Given the description of an element on the screen output the (x, y) to click on. 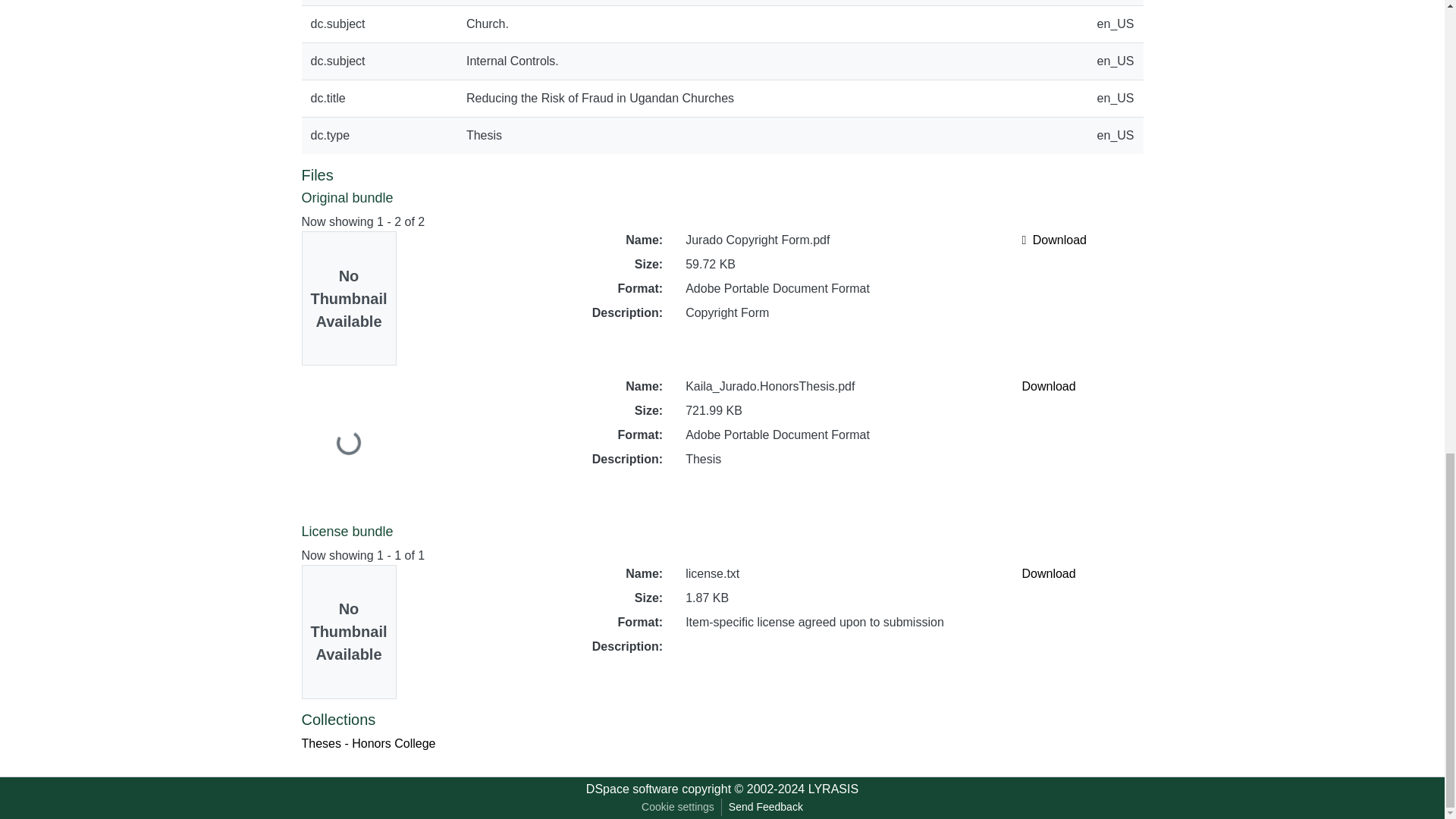
Download (1048, 386)
Cookie settings (677, 806)
Theses - Honors College (368, 743)
Send Feedback (765, 806)
Download (1054, 239)
DSpace software (632, 788)
Download (1048, 573)
LYRASIS (833, 788)
